Given the description of an element on the screen output the (x, y) to click on. 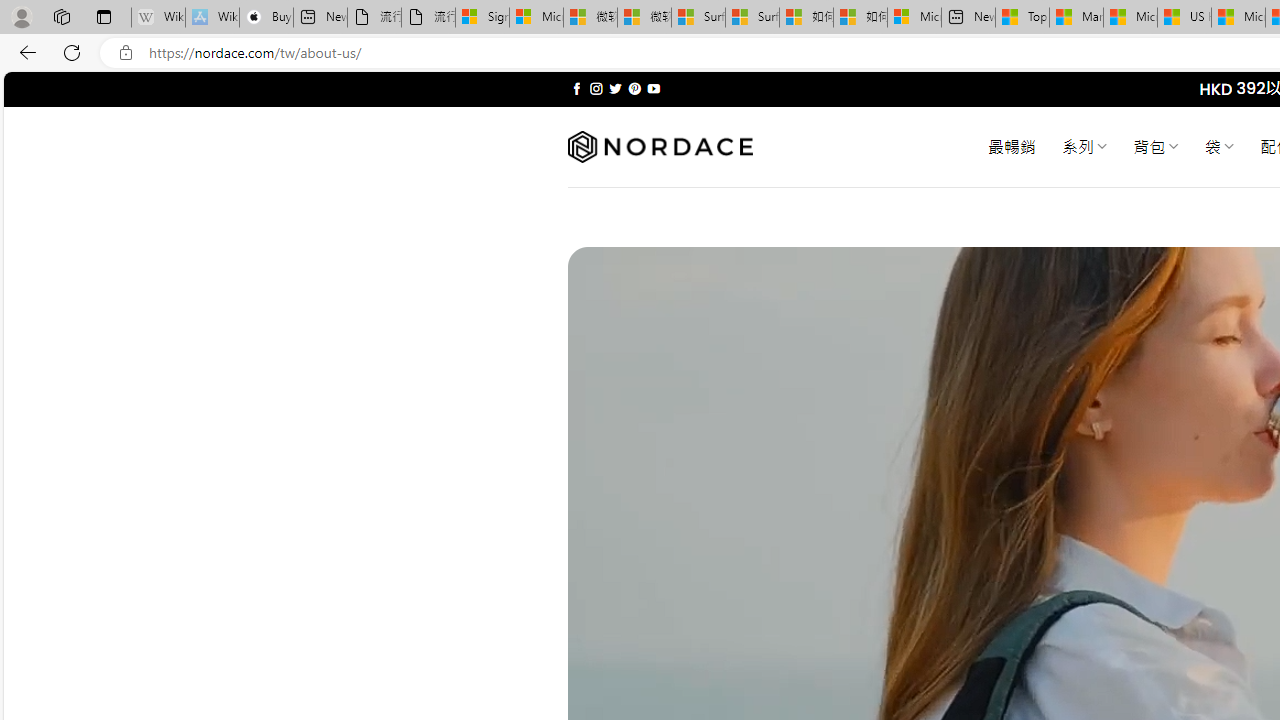
US Heat Deaths Soared To Record High Last Year (1184, 17)
Sign in to your Microsoft account (482, 17)
Follow on Twitter (615, 88)
Follow on Instagram (596, 88)
